Given the description of an element on the screen output the (x, y) to click on. 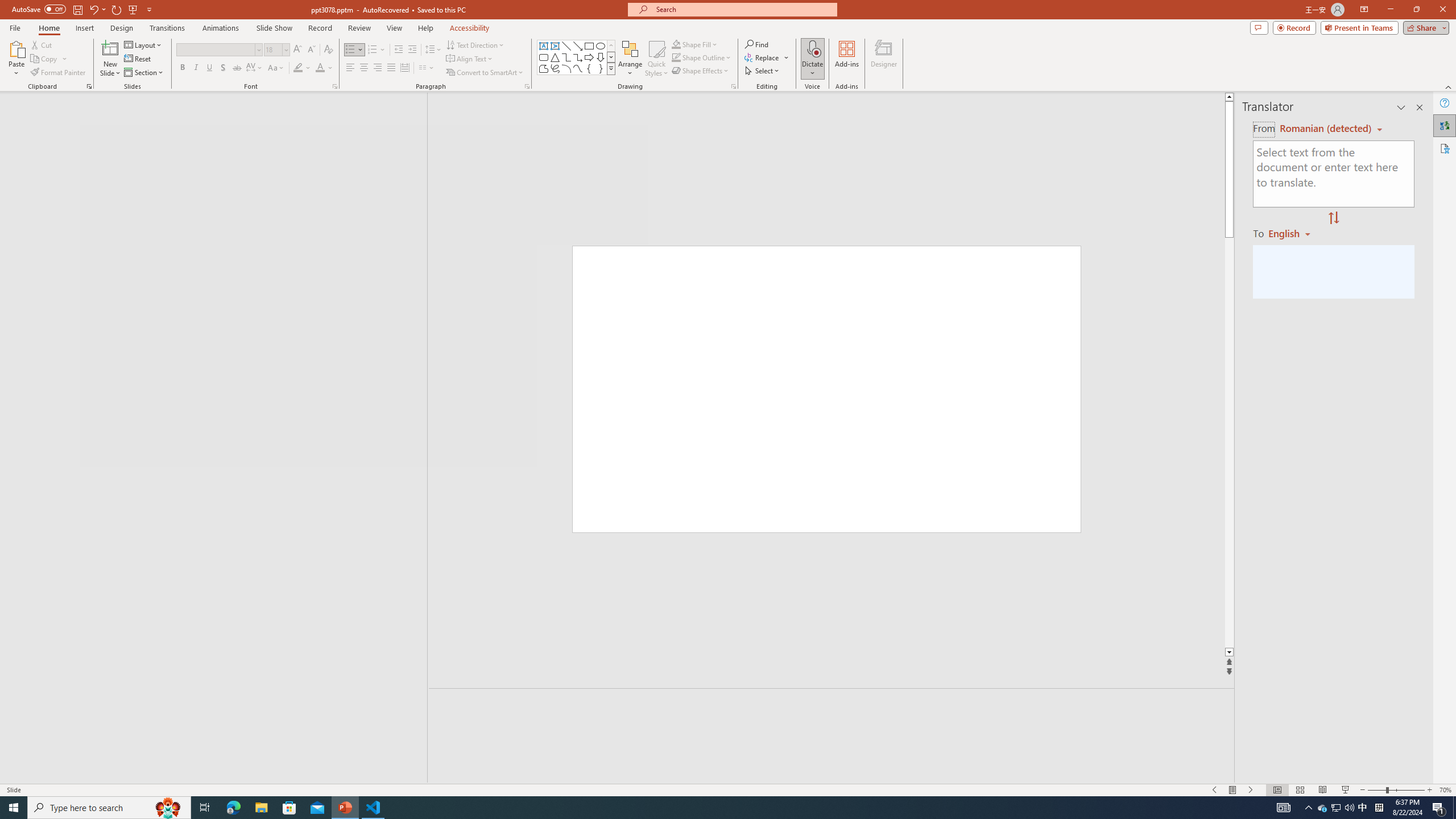
Slide Show Previous On (1214, 790)
